Given the description of an element on the screen output the (x, y) to click on. 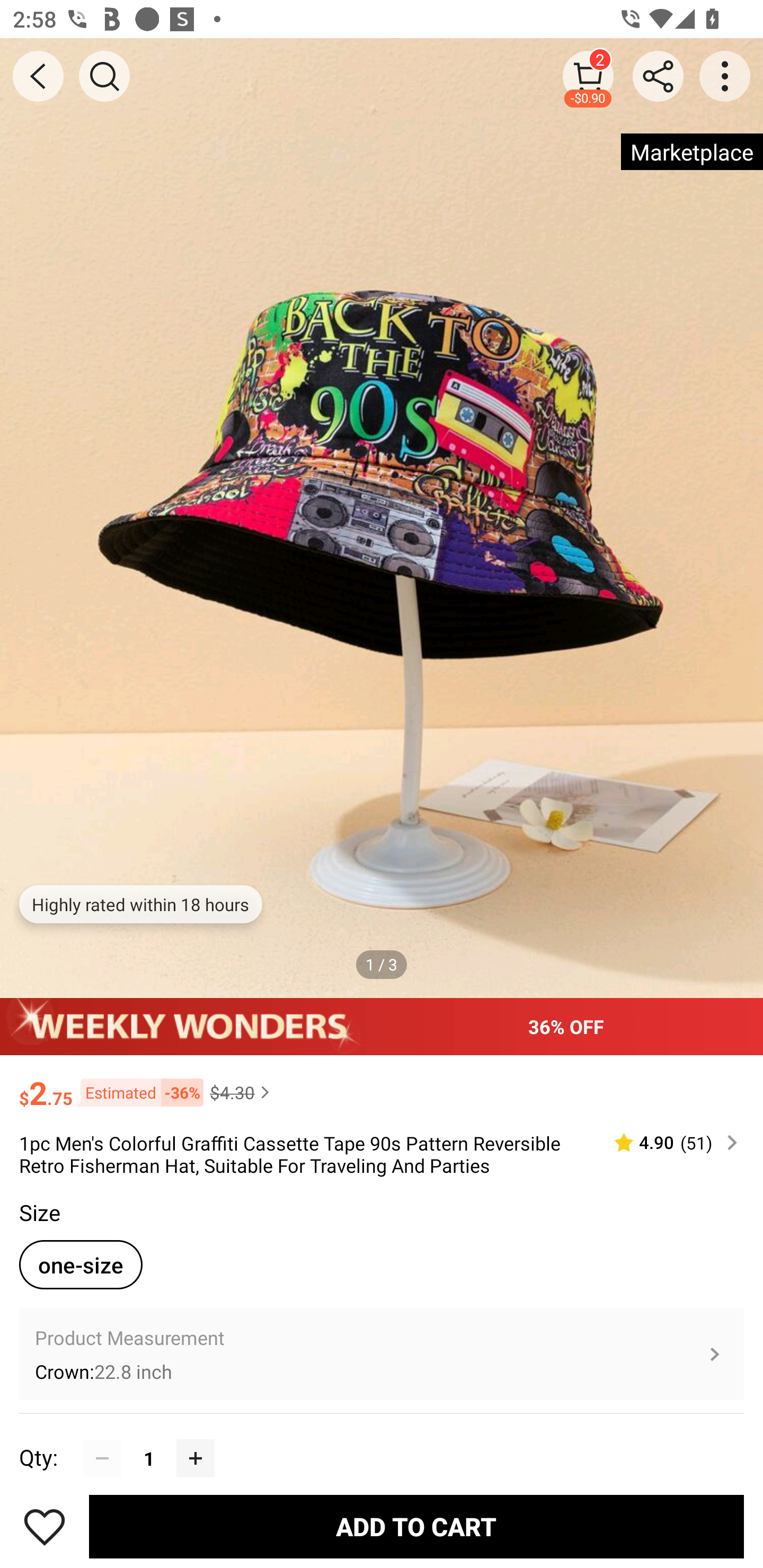
BACK (38, 75)
2 -$0.90 (588, 75)
1 / 3 (381, 964)
36% OFF (381, 1026)
$2.75 Estimated -36% $4.30 (381, 1084)
Estimated -36% (137, 1092)
$4.30 (241, 1091)
4.90 (51) (667, 1142)
Size (39, 1212)
one-size one-sizeselected option (80, 1264)
Product Measurement Crown:22.8 inch (381, 1353)
Qty: 1 (381, 1438)
ADD TO CART (416, 1526)
Save (44, 1526)
